Given the description of an element on the screen output the (x, y) to click on. 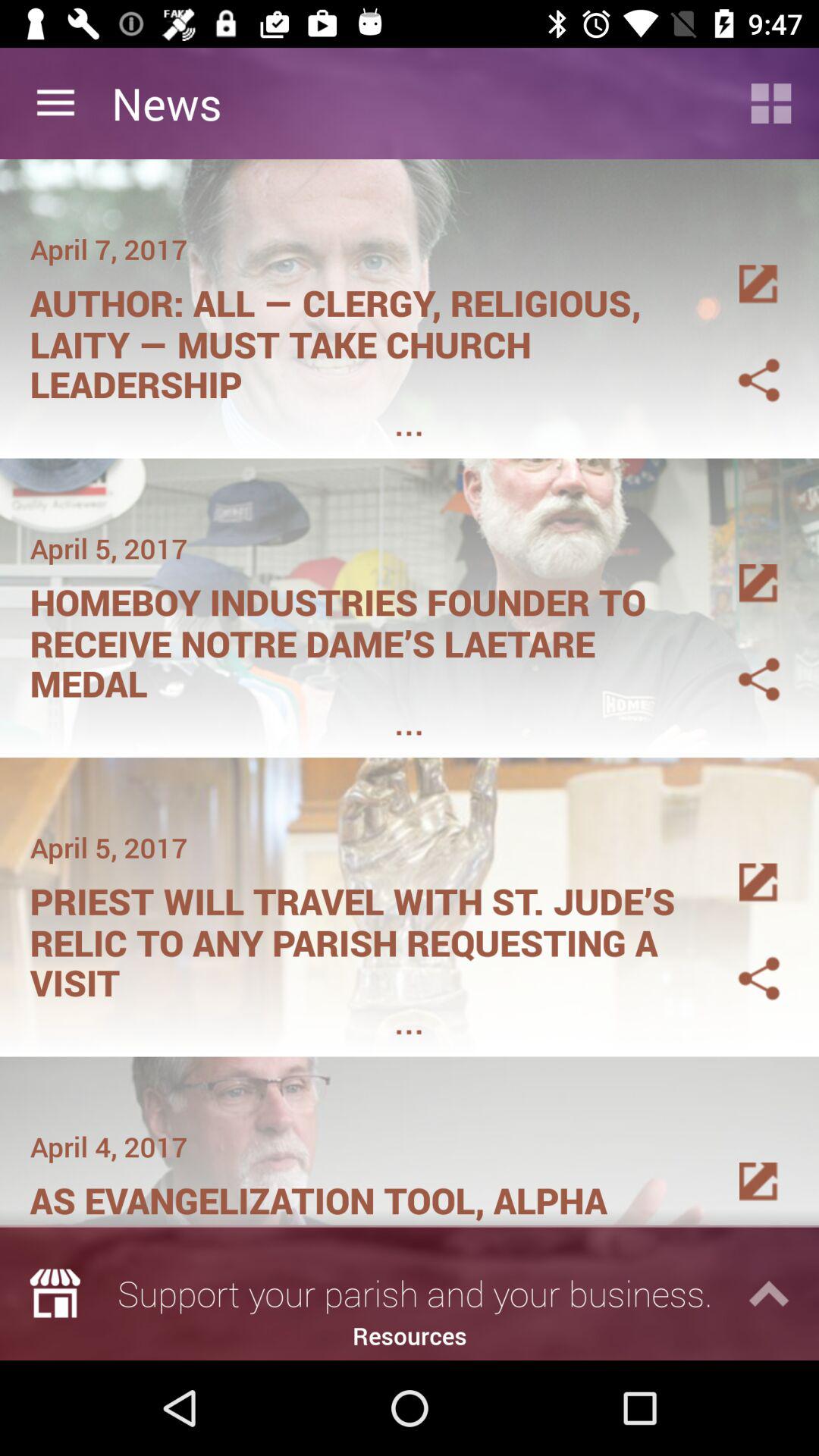
share this article (740, 960)
